Given the description of an element on the screen output the (x, y) to click on. 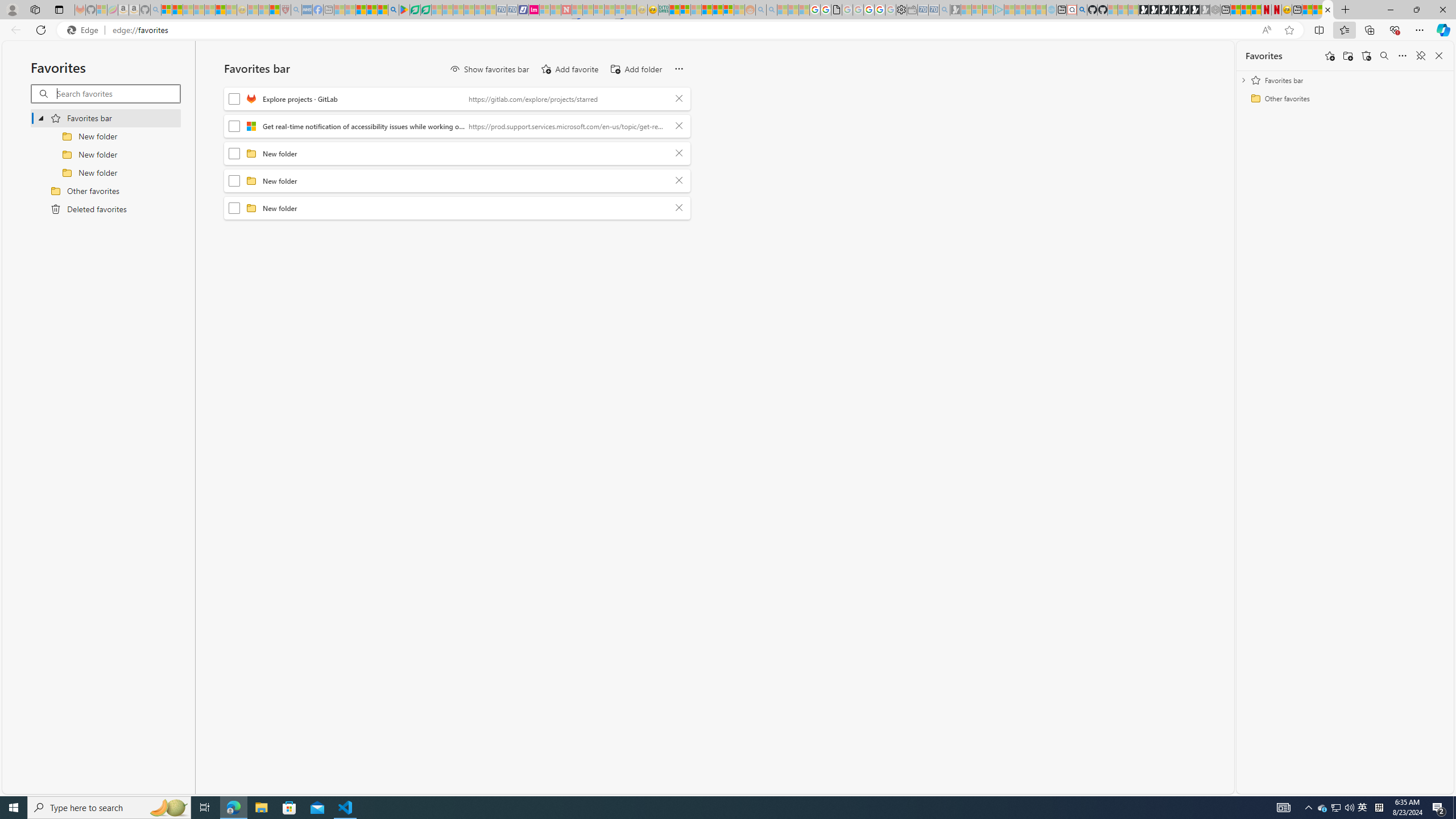
DITOGAMES AG Imprint (663, 9)
Restore deleted favorites (1366, 55)
list of asthma inhalers uk - Search - Sleeping (296, 9)
NCL Adult Asthma Inhaler Choice Guideline - Sleeping (307, 9)
Wallet - Sleeping (912, 9)
Unpin favorites (1420, 55)
MSNBC - MSN (673, 9)
Refresh (40, 29)
